Given the description of an element on the screen output the (x, y) to click on. 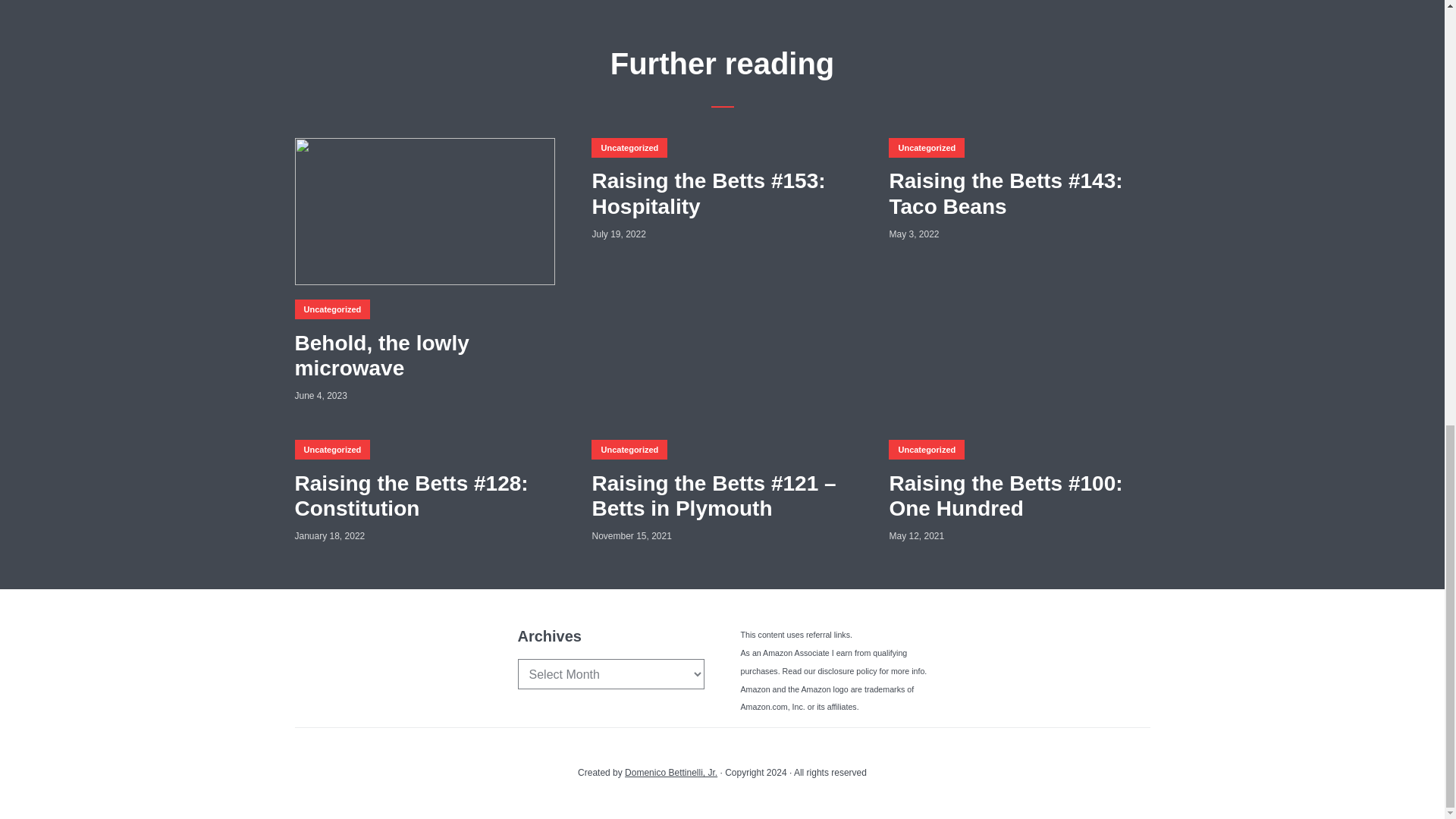
Uncategorized (331, 309)
Behold, the lowly microwave (424, 355)
Uncategorized (331, 449)
Uncategorized (925, 449)
Uncategorized (628, 148)
Domenico Bettinelli, Jr. (670, 772)
Uncategorized (628, 449)
Uncategorized (925, 148)
disclosure policy (846, 670)
